Given the description of an element on the screen output the (x, y) to click on. 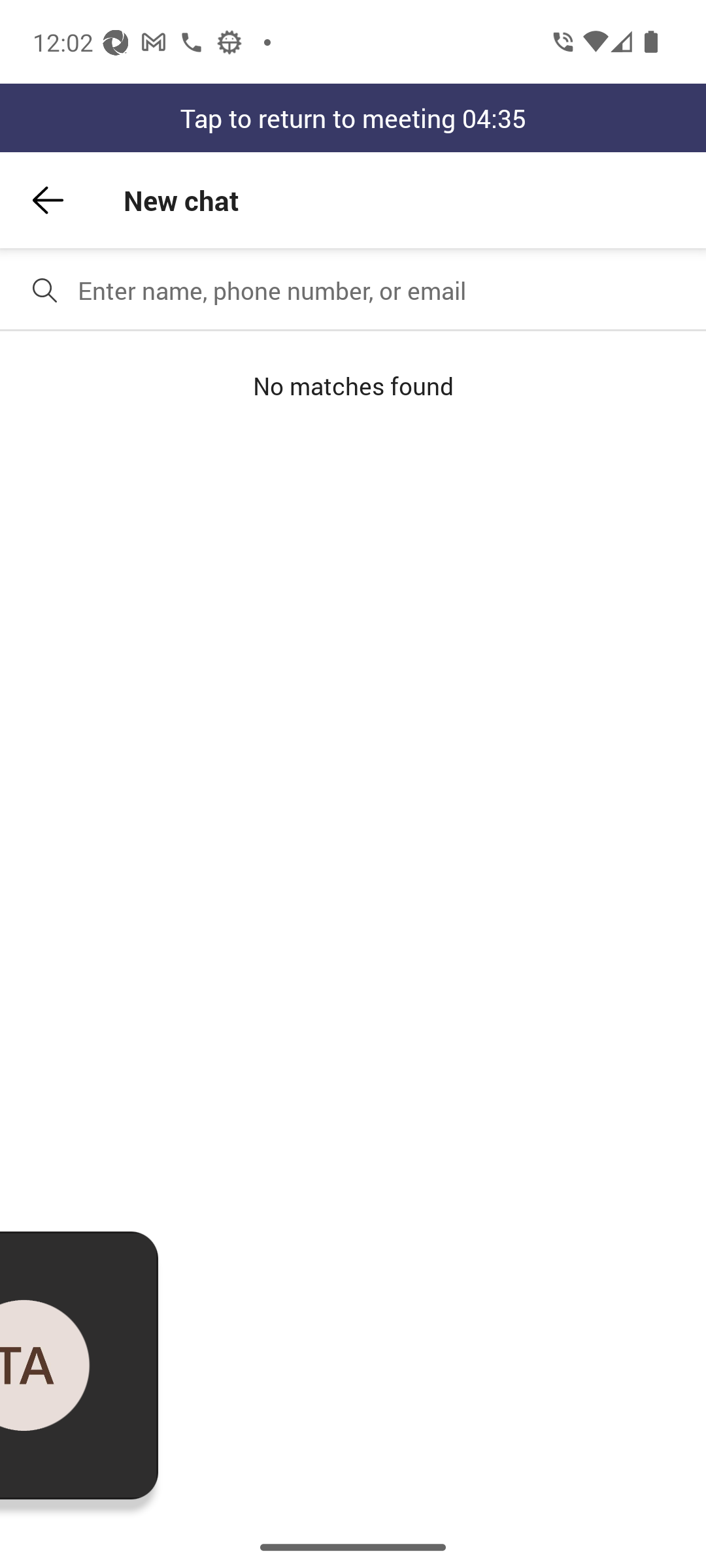
Tap to return to meeting 04:35 (353, 117)
Back (48, 199)
Enter name, phone number, or email (384, 289)
No matches found (353, 385)
